Given the description of an element on the screen output the (x, y) to click on. 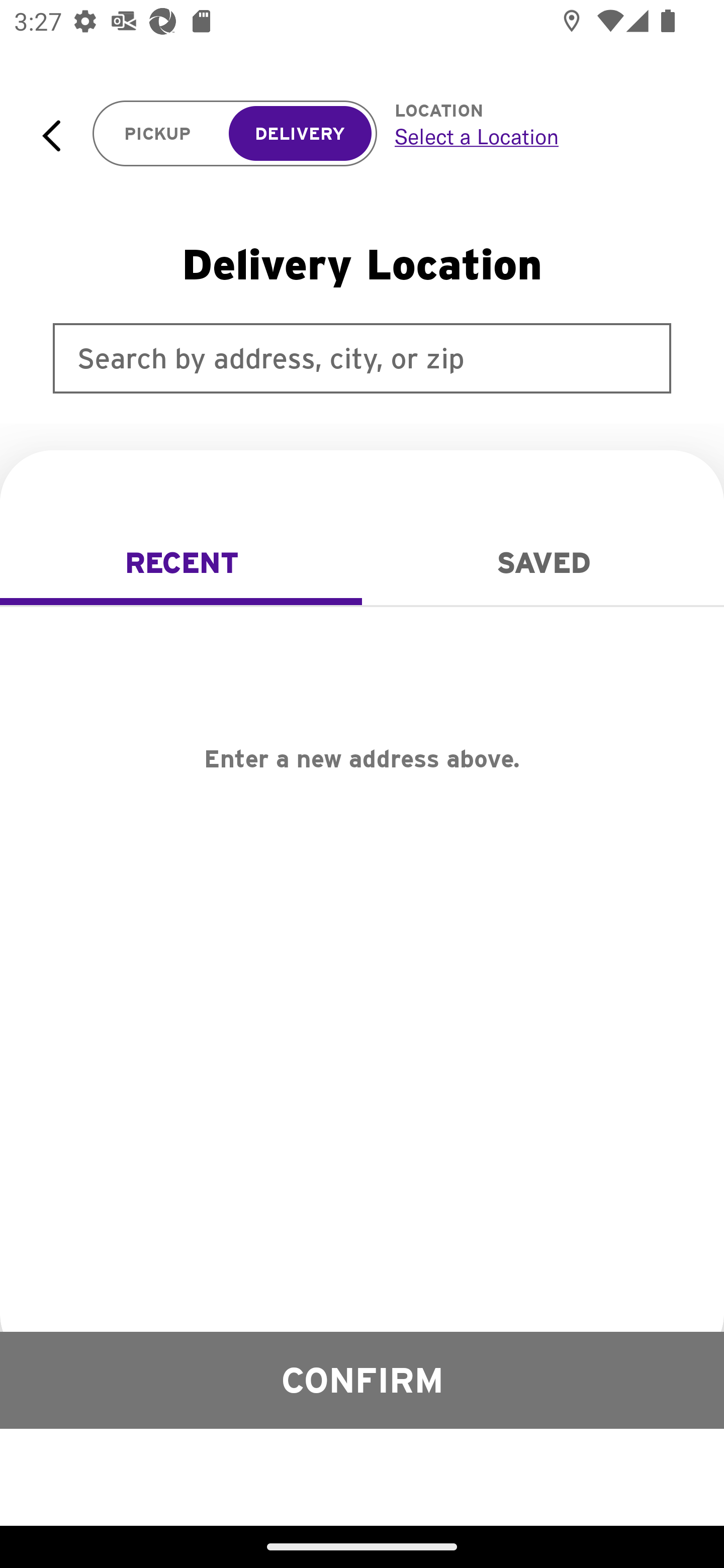
PICKUP (157, 133)
DELIVERY (299, 133)
Select a Location (536, 136)
Search by address, city, or zip (361, 358)
Saved SAVED (543, 562)
CONFIRM (362, 1379)
